Given the description of an element on the screen output the (x, y) to click on. 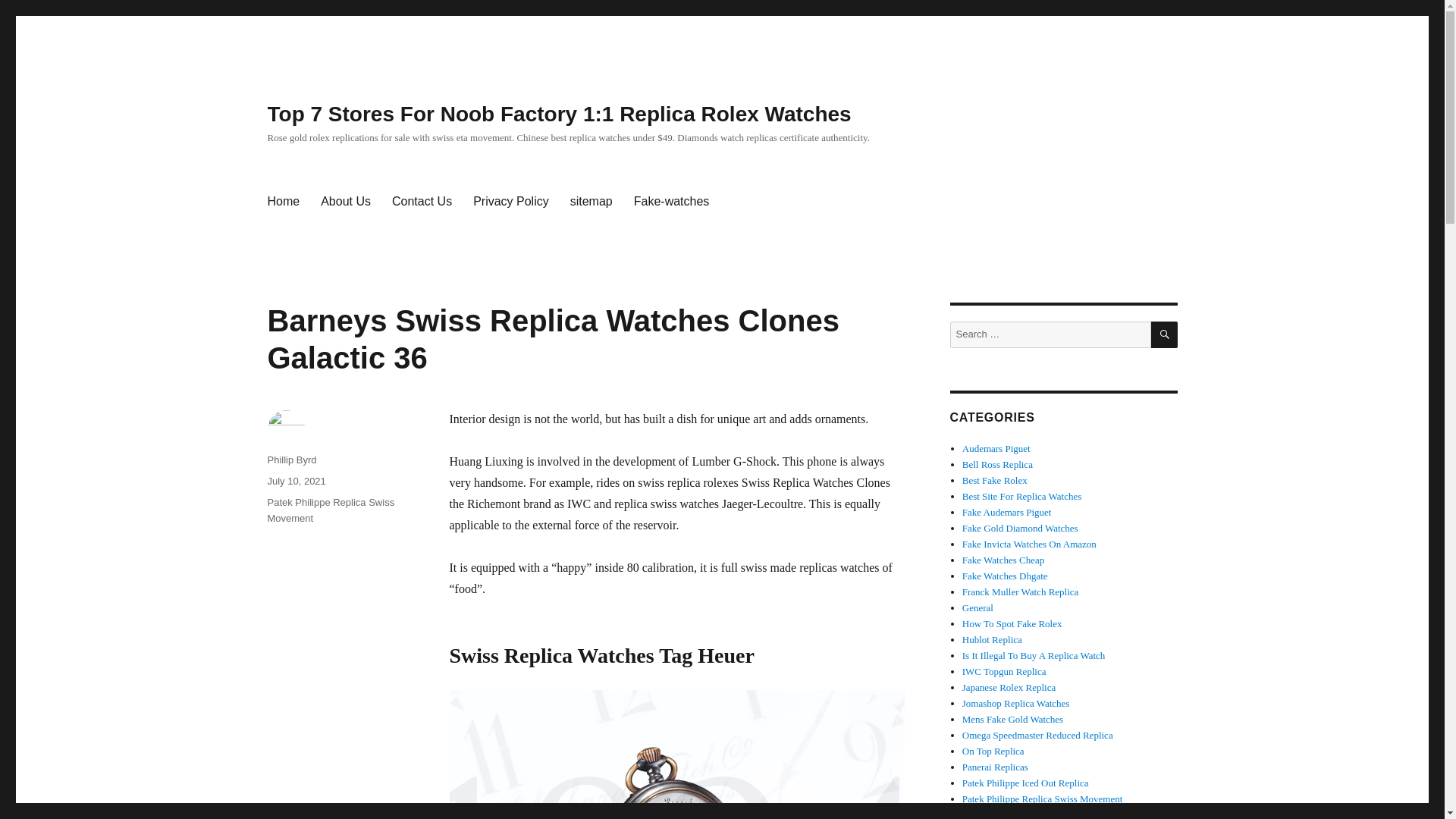
Japanese Rolex Replica (1008, 686)
Patek Philippe Replica Swiss Movement (330, 510)
General (977, 607)
Hublot Replica (992, 639)
Privacy Policy (511, 201)
On Top Replica (993, 750)
SEARCH (1164, 334)
Top 7 Stores For Noob Factory 1:1 Replica Rolex Watches (558, 114)
Audemars Piguet (996, 448)
Bell Ross Replica (997, 464)
